Given the description of an element on the screen output the (x, y) to click on. 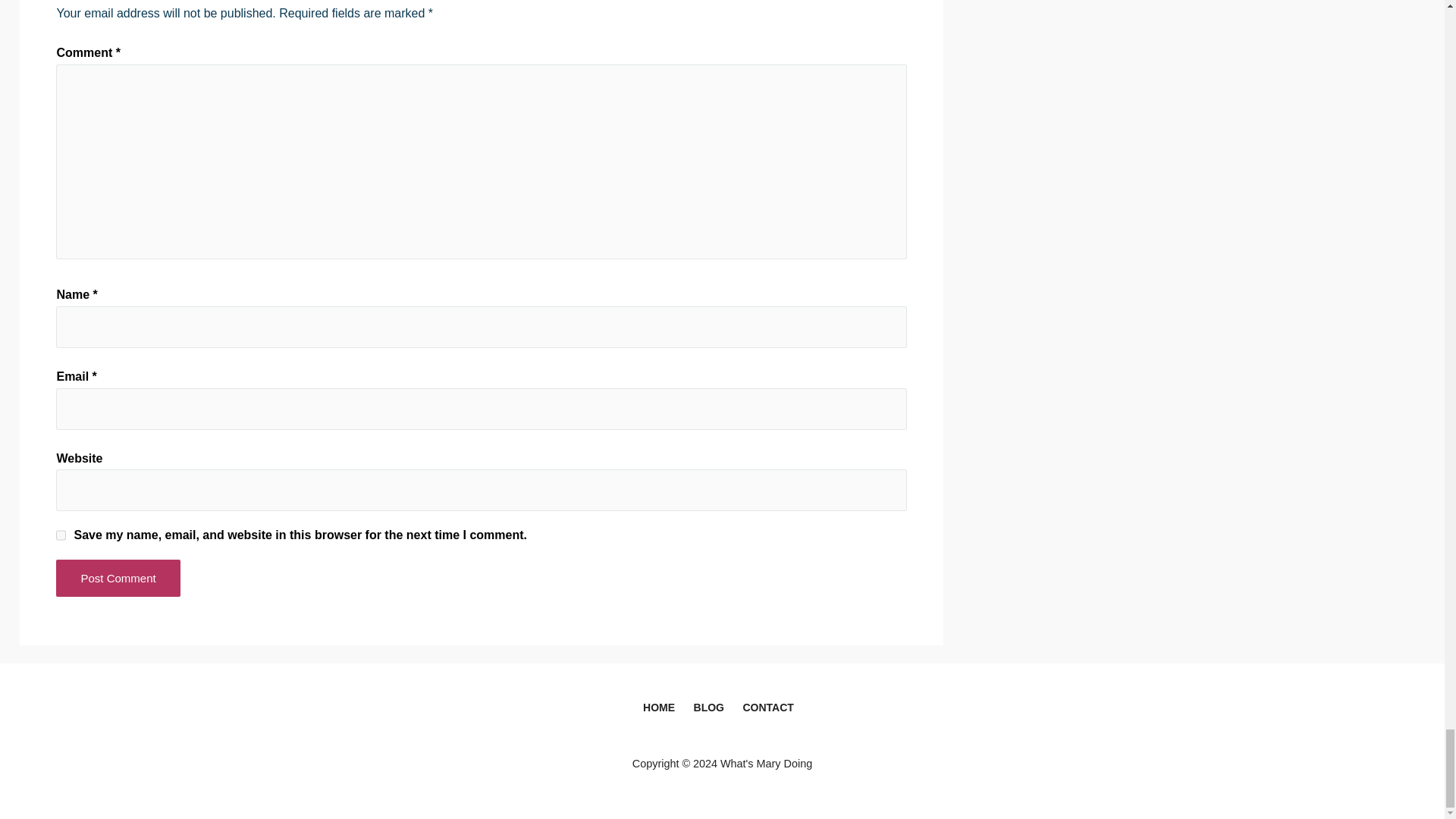
Post Comment (117, 578)
